Given the description of an element on the screen output the (x, y) to click on. 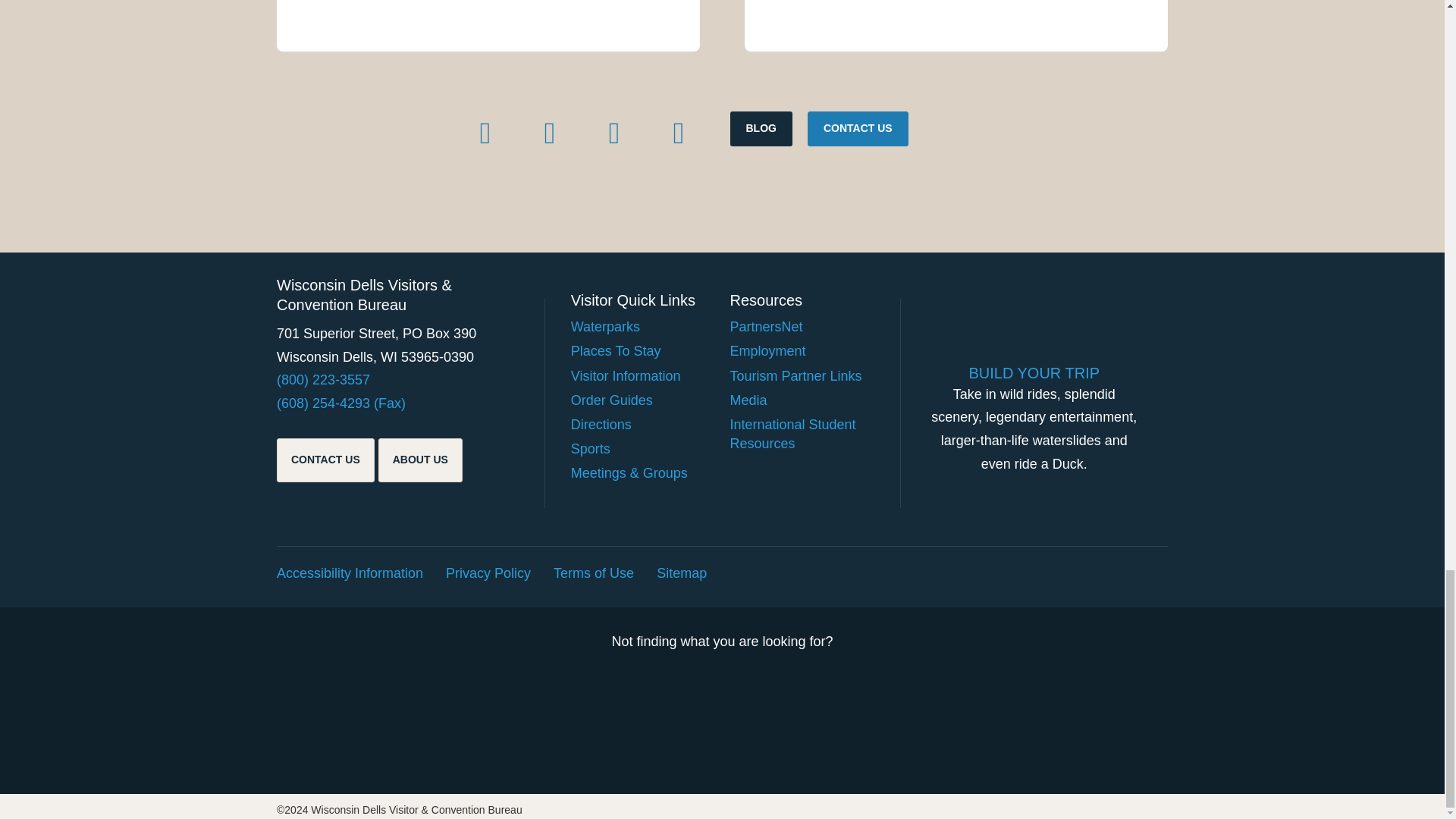
Opens in a new window (549, 132)
Opens in a new window (678, 132)
Opens in a new window (485, 132)
Opens in a new window (613, 132)
